Given the description of an element on the screen output the (x, y) to click on. 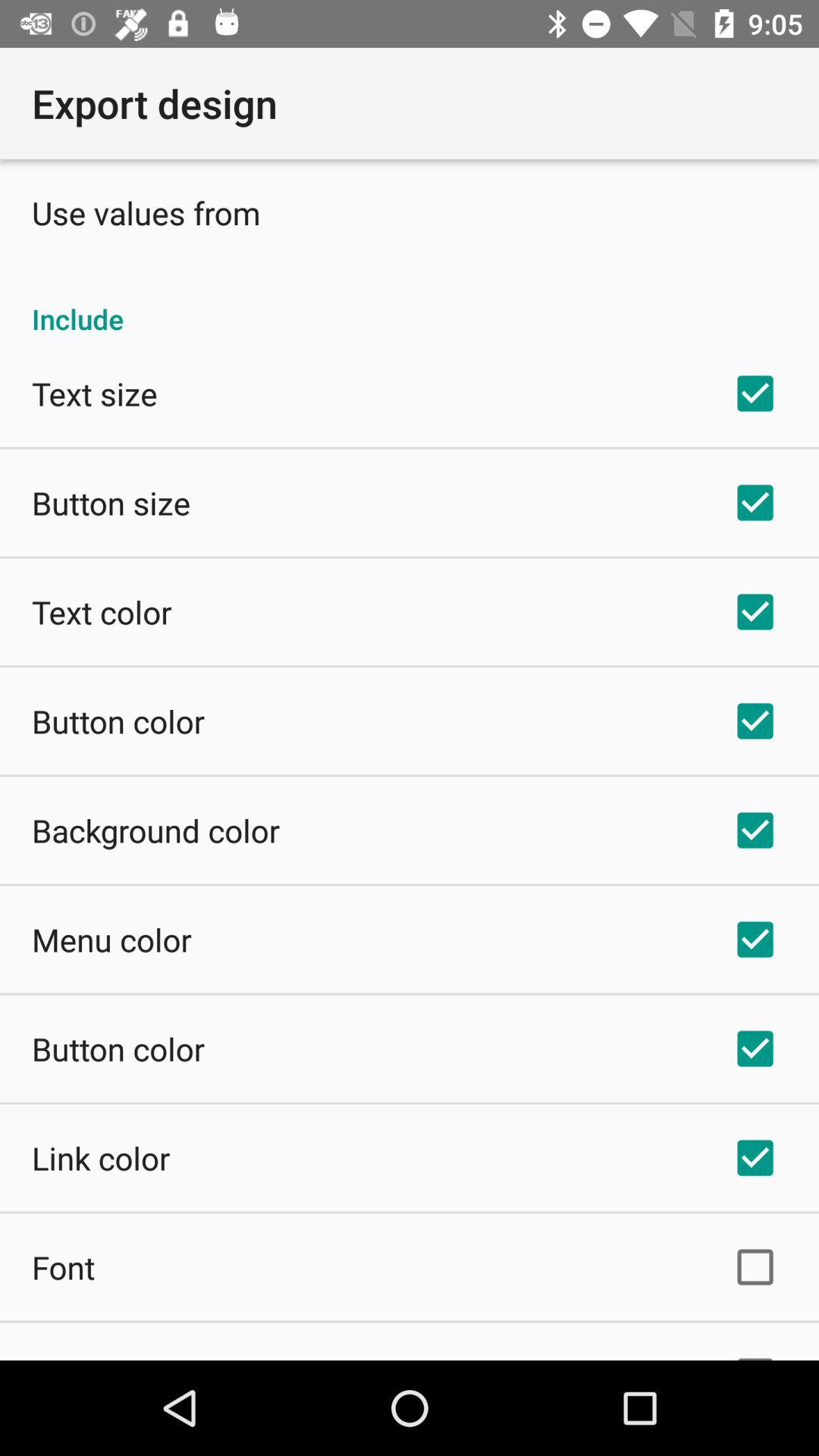
turn off the icon below button size app (101, 611)
